Given the description of an element on the screen output the (x, y) to click on. 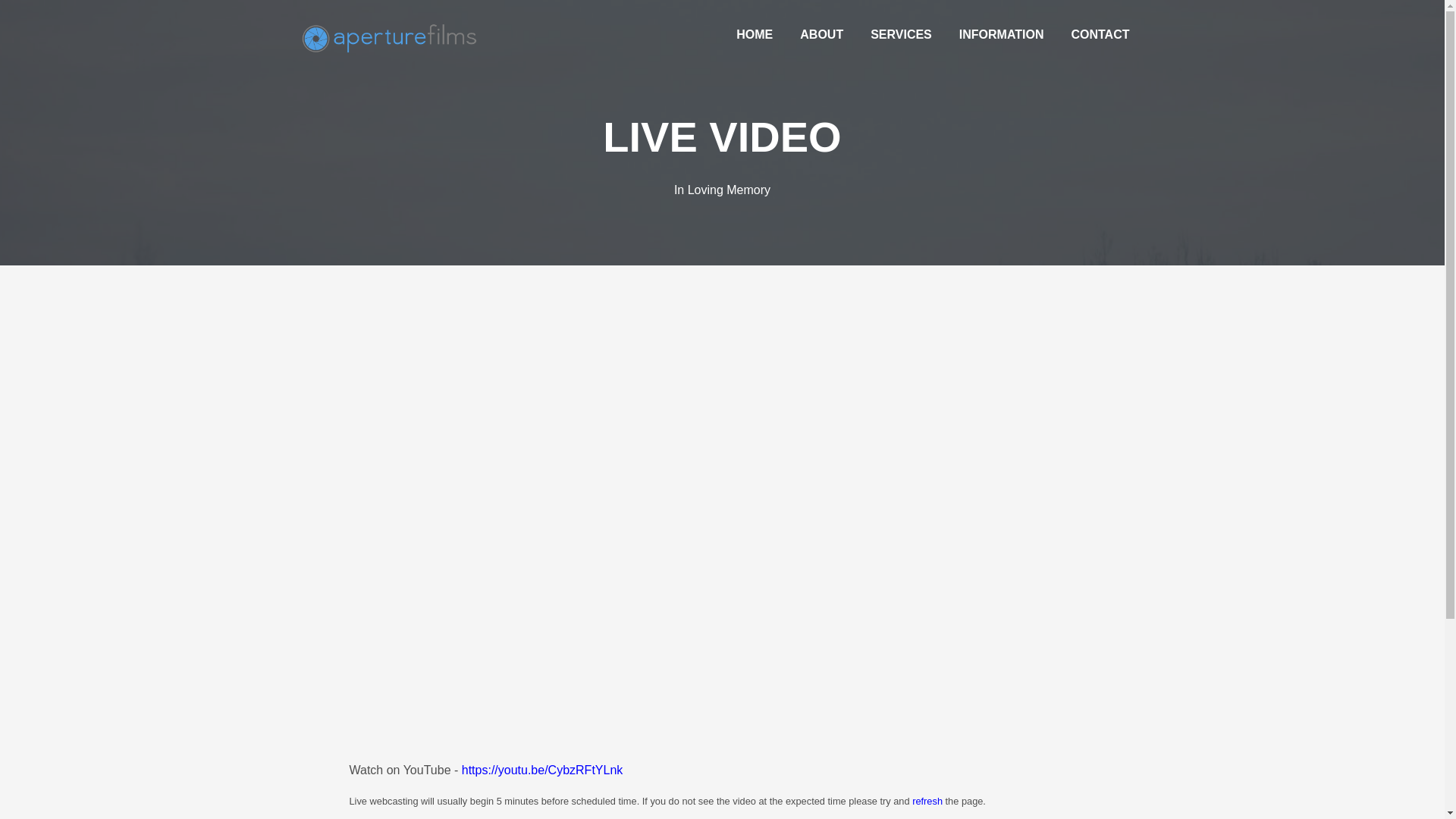
SERVICES Element type: text (901, 34)
INFORMATION Element type: text (1001, 34)
ABOUT Element type: text (821, 34)
HOME Element type: text (754, 34)
CONTACT Element type: text (1099, 34)
refresh Element type: text (927, 800)
https://youtu.be/CybzRFtYLnk Element type: text (542, 768)
